Given the description of an element on the screen output the (x, y) to click on. 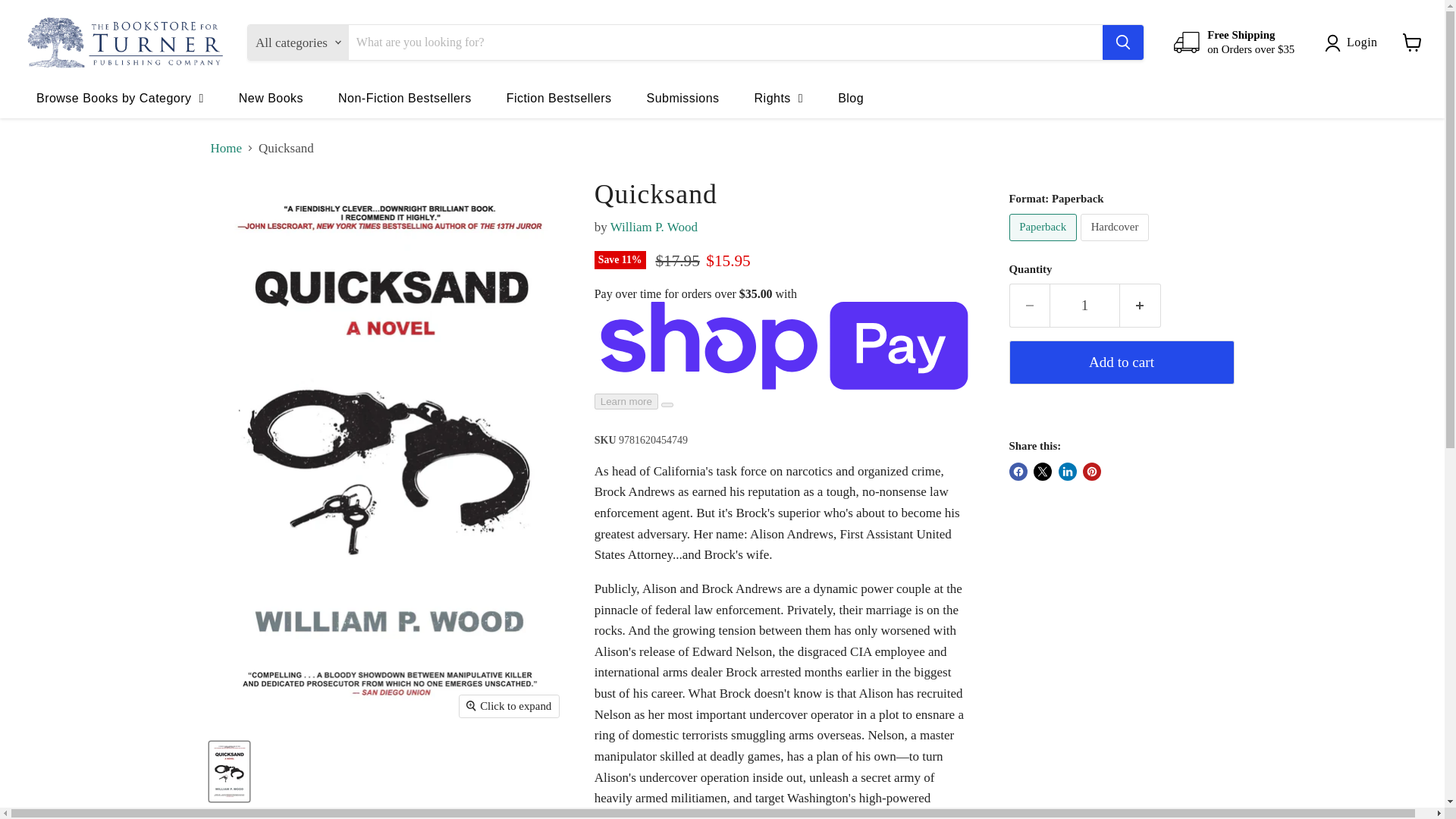
View cart (1411, 41)
1 (1084, 305)
Browse Books by Category (119, 97)
Login (1354, 42)
Browse Books by Category (119, 97)
